Given the description of an element on the screen output the (x, y) to click on. 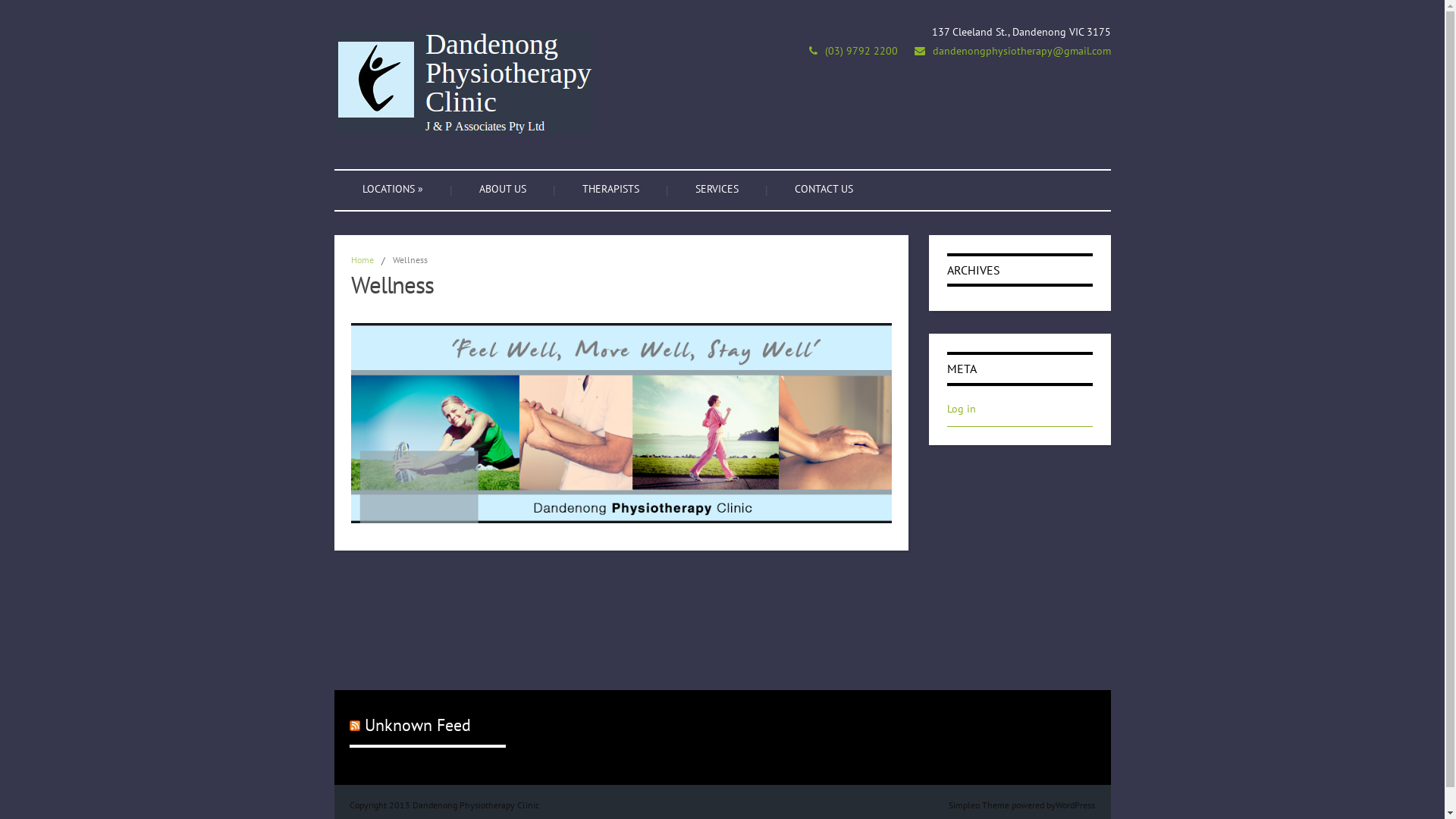
SERVICES Element type: text (716, 190)
dandenongphysiotherapy@gmail.com Element type: text (1021, 50)
THERAPISTS Element type: text (609, 190)
CONTACT US Element type: text (822, 190)
ABOUT US Element type: text (501, 190)
Log in Element type: text (961, 408)
Simpleo Theme Element type: text (978, 804)
Home Element type: text (362, 259)
Unknown Feed Element type: text (417, 724)
Copyright 2013 Dandenong Physiotherapy Clinic Element type: text (444, 804)
WordPress Element type: text (1075, 804)
